Given the description of an element on the screen output the (x, y) to click on. 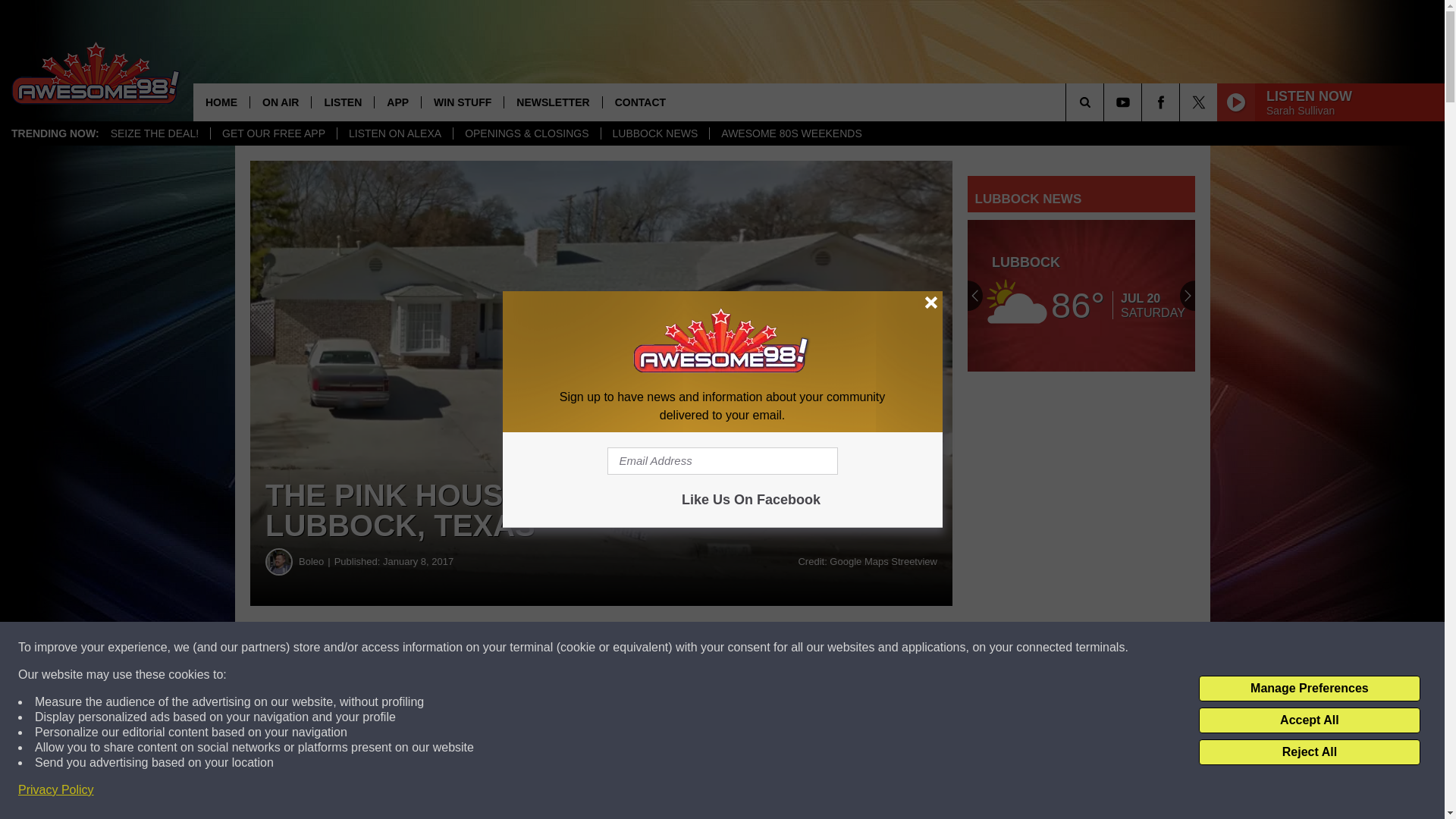
SEIZE THE DEAL! (154, 133)
SEARCH (1106, 102)
Privacy Policy (55, 789)
GET OUR FREE APP (272, 133)
Email Address (722, 461)
AWESOME 80S WEEKENDS (790, 133)
HOME (220, 102)
Share on Twitter (741, 647)
Manage Preferences (1309, 688)
LISTEN ON ALEXA (394, 133)
Share on Facebook (460, 647)
LISTEN (342, 102)
WIN STUFF (461, 102)
ON AIR (279, 102)
Lubbock Weather (1081, 295)
